Given the description of an element on the screen output the (x, y) to click on. 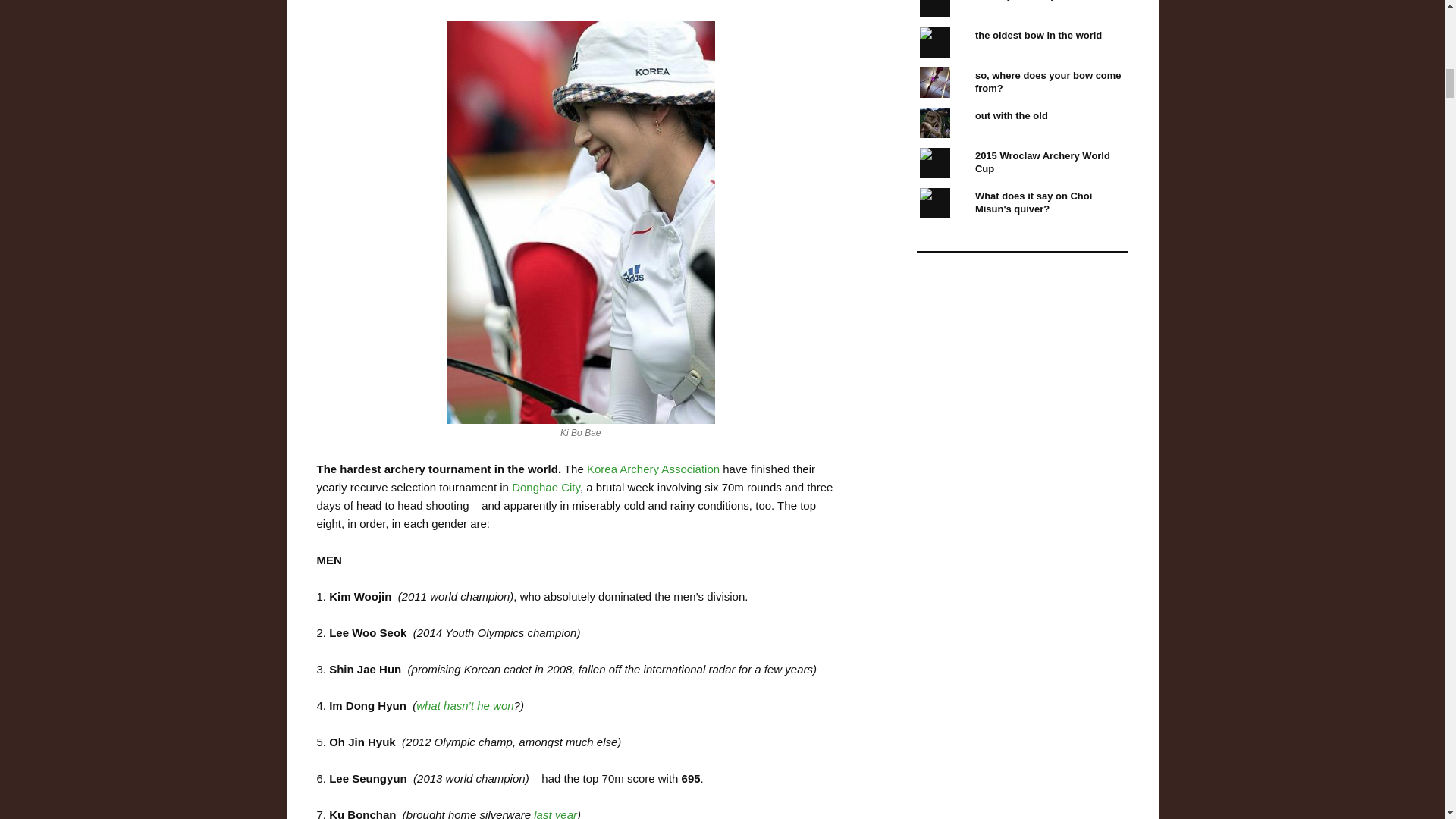
Korea Archery Association (652, 468)
last year (555, 813)
Donghae City (545, 486)
